Given the description of an element on the screen output the (x, y) to click on. 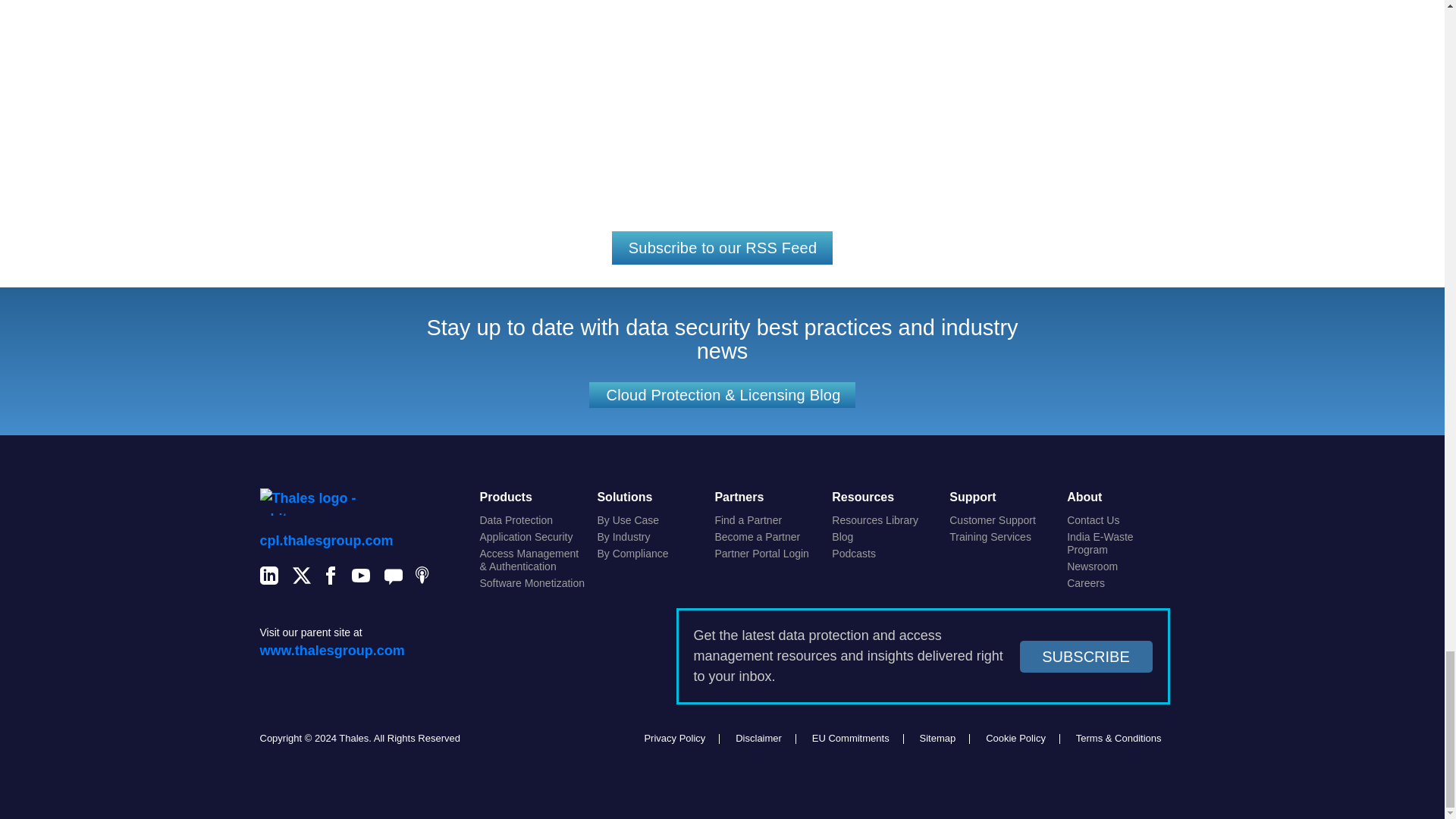
LinkedIn (268, 578)
Podcasts (423, 578)
YouTube (360, 578)
Facebook (330, 578)
Twitter (301, 578)
Thales Blog (393, 578)
